Given the description of an element on the screen output the (x, y) to click on. 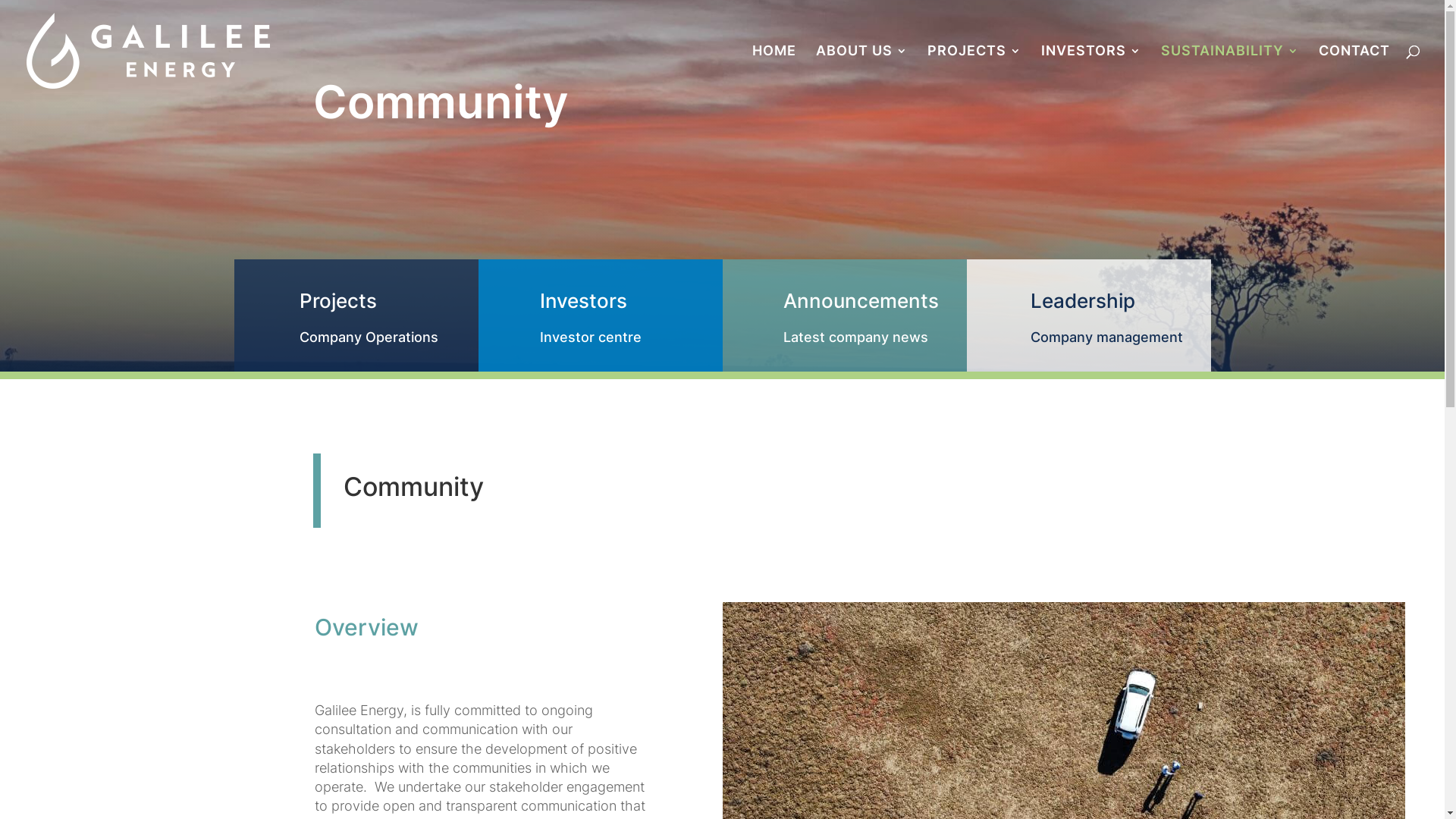
INVESTORS Element type: text (1091, 73)
SUSTAINABILITY Element type: text (1230, 73)
Announcements Element type: text (860, 300)
HOME Element type: text (774, 73)
PROJECTS Element type: text (974, 73)
Projects Element type: text (337, 300)
Leadership Element type: text (1081, 300)
ABOUT US Element type: text (861, 73)
Investors Element type: text (583, 300)
CONTACT Element type: text (1354, 73)
